Given the description of an element on the screen output the (x, y) to click on. 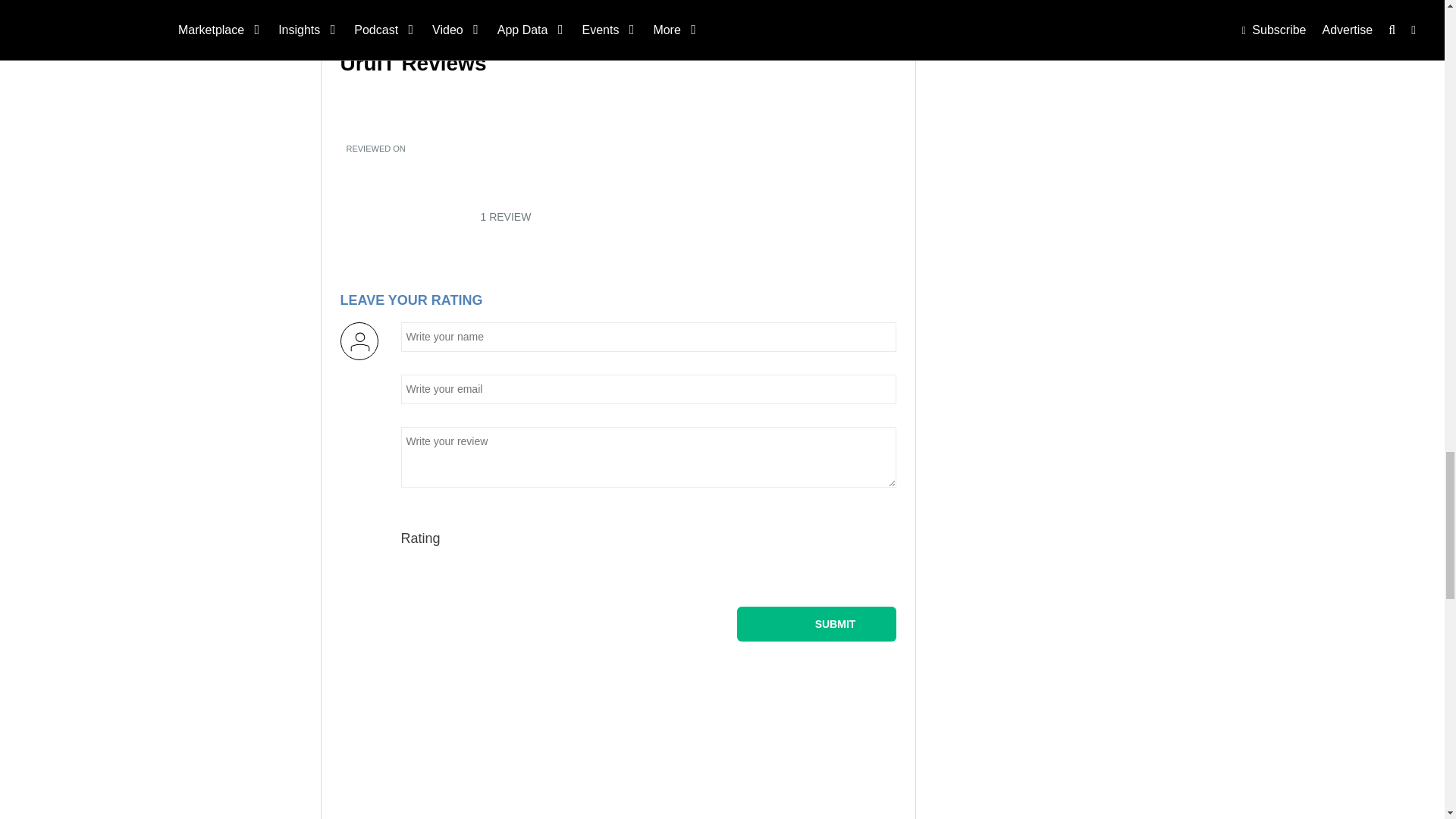
Syon Infomedia (799, 12)
Infinum (425, 12)
itransition (612, 12)
Submit (816, 623)
